Given the description of an element on the screen output the (x, y) to click on. 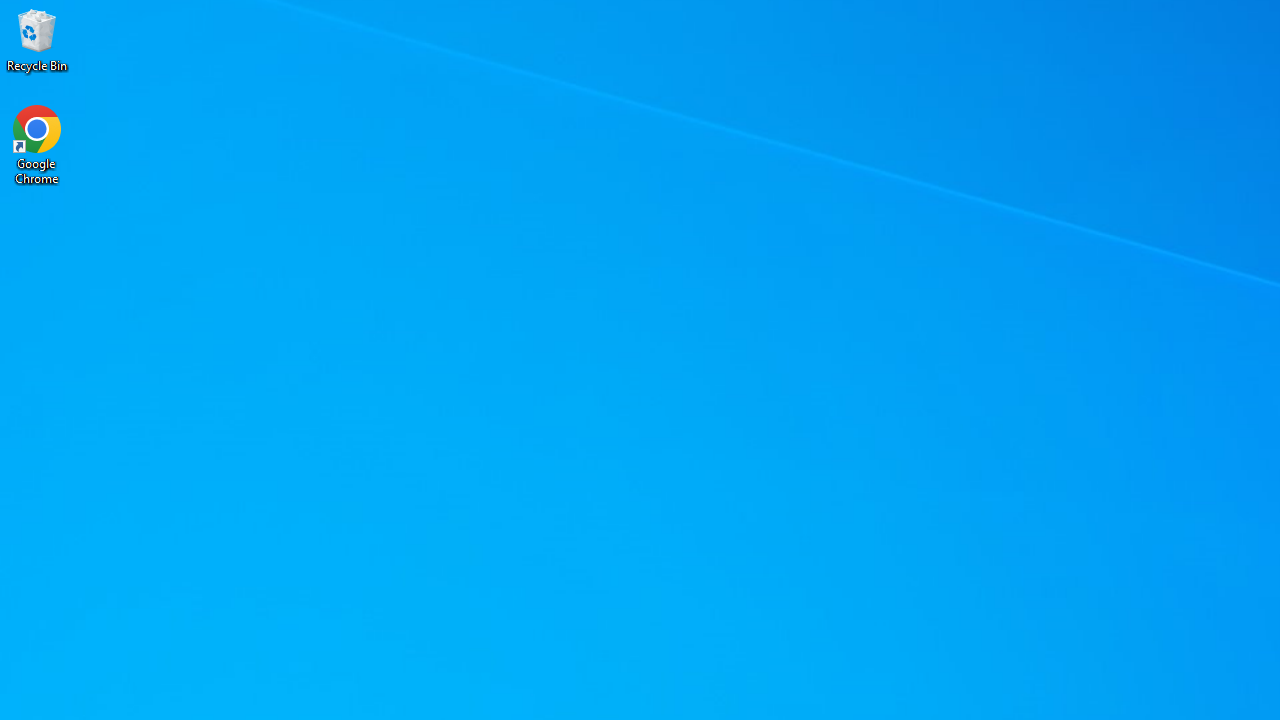
Google Chrome (37, 144)
Recycle Bin (37, 39)
